Given the description of an element on the screen output the (x, y) to click on. 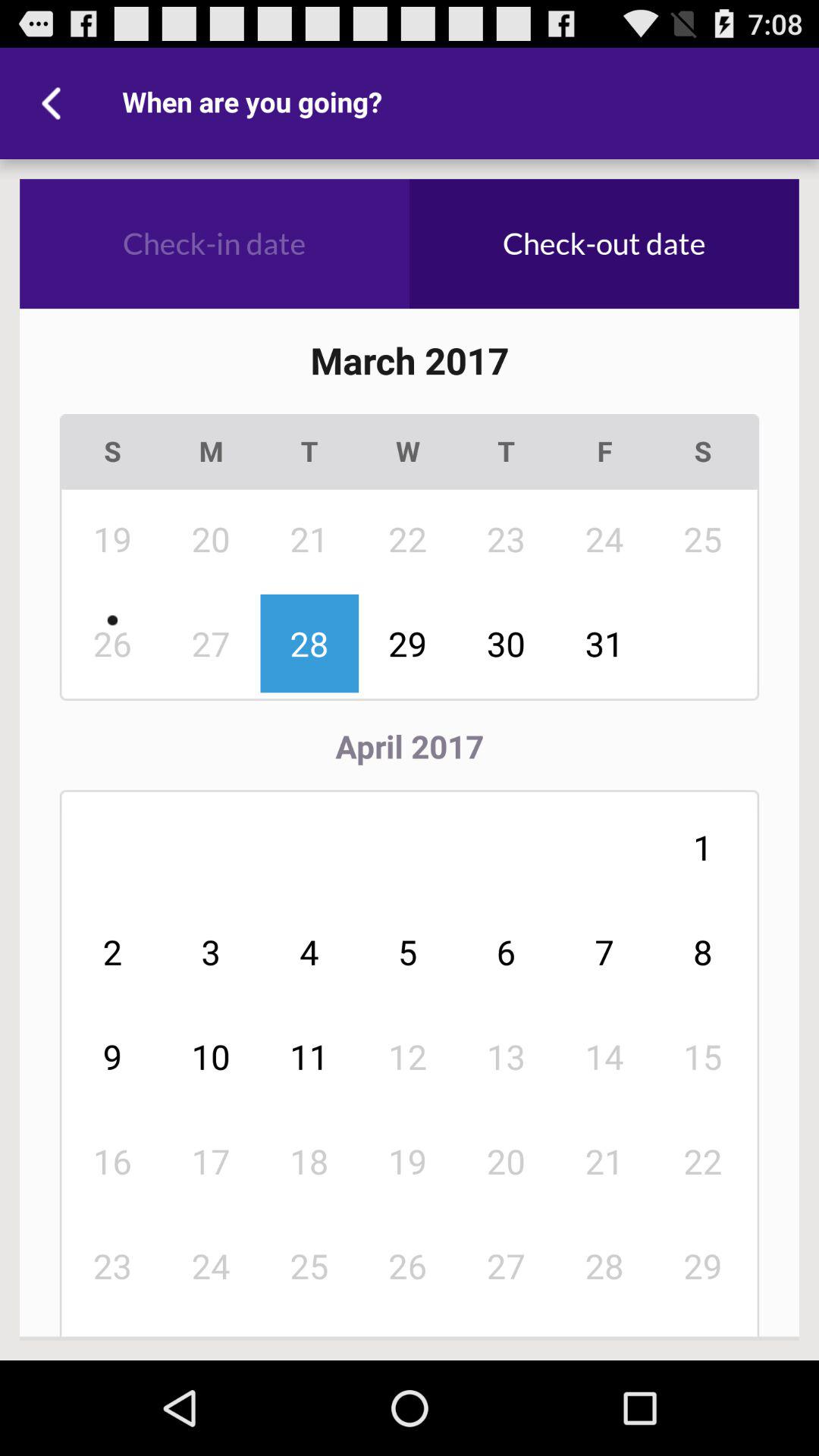
click the item above check-in date icon (55, 103)
